Given the description of an element on the screen output the (x, y) to click on. 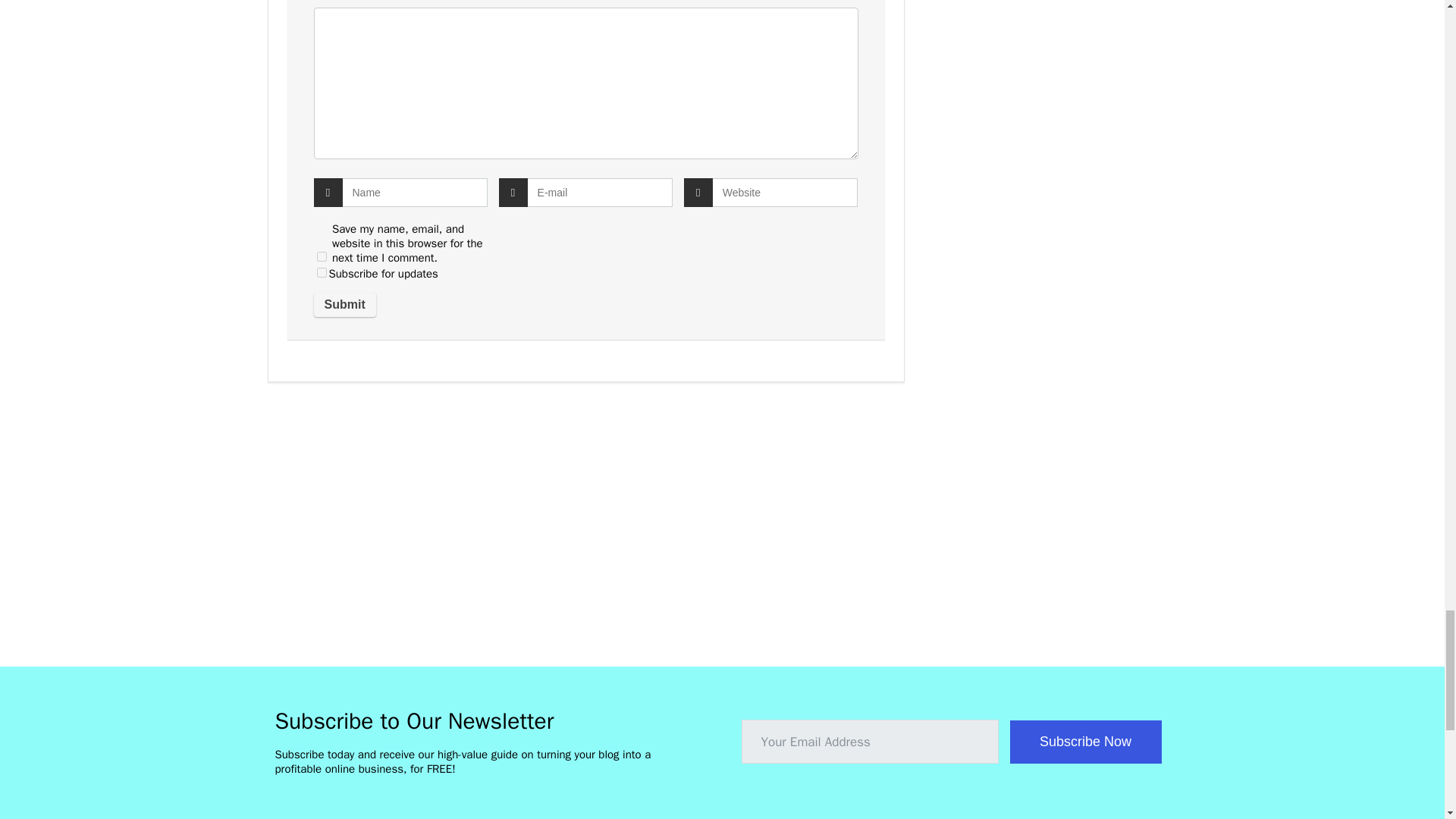
Submit (344, 304)
yes (321, 256)
yes (321, 272)
